Given the description of an element on the screen output the (x, y) to click on. 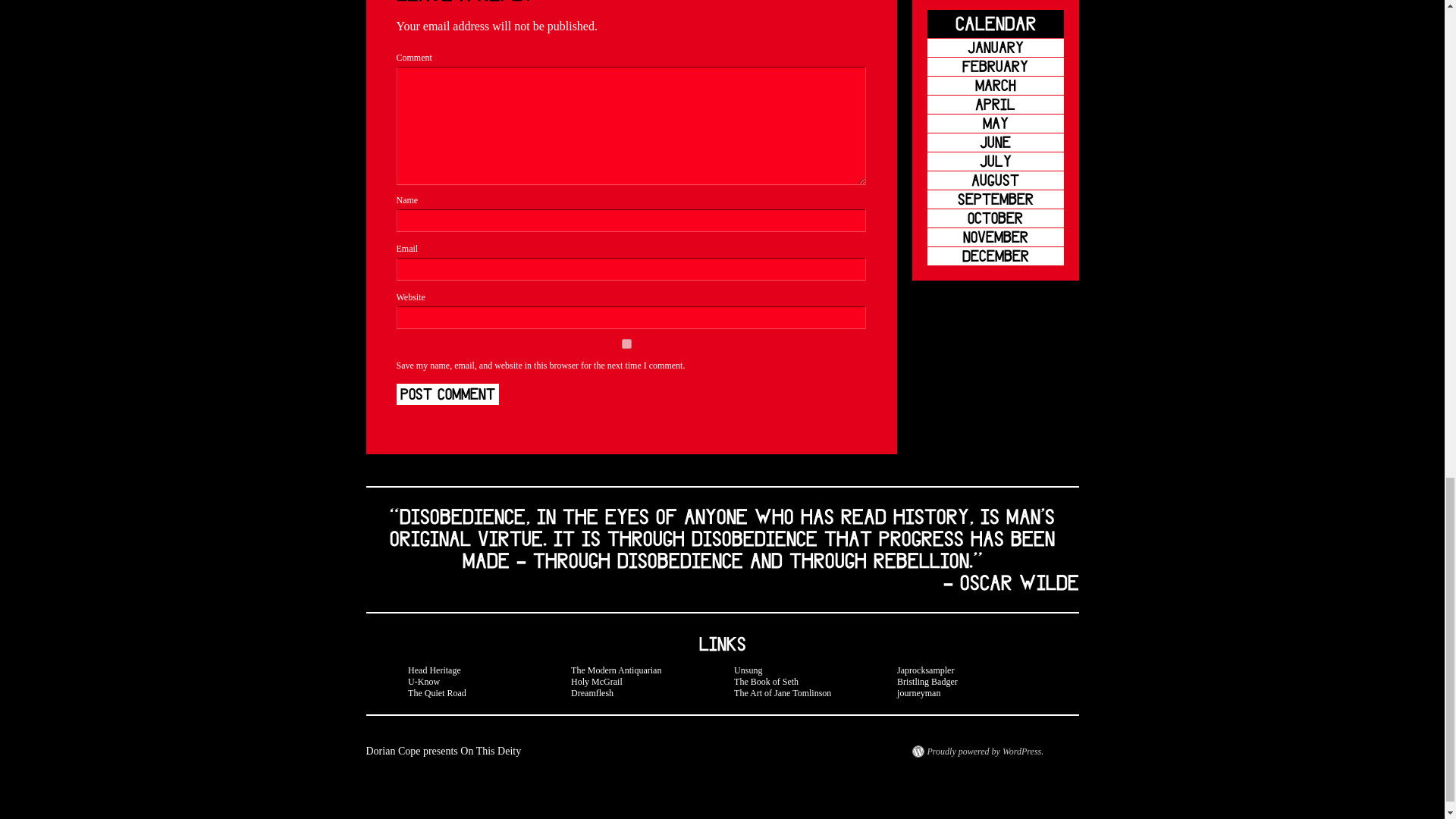
May (994, 123)
Radical Believers and Humane Revolutionaries (423, 681)
Dorian Cope presents On This Deity (443, 750)
My Husband, the Archdrude  (434, 670)
Post Comment (446, 394)
February (994, 66)
Grufty Jim to the Rescue (436, 692)
He designed this site! (596, 681)
Post Comment (446, 394)
March (994, 85)
Megalithics and More (615, 670)
yes (626, 343)
April (994, 104)
Gnostic RnR (747, 670)
January (994, 47)
